Given the description of an element on the screen output the (x, y) to click on. 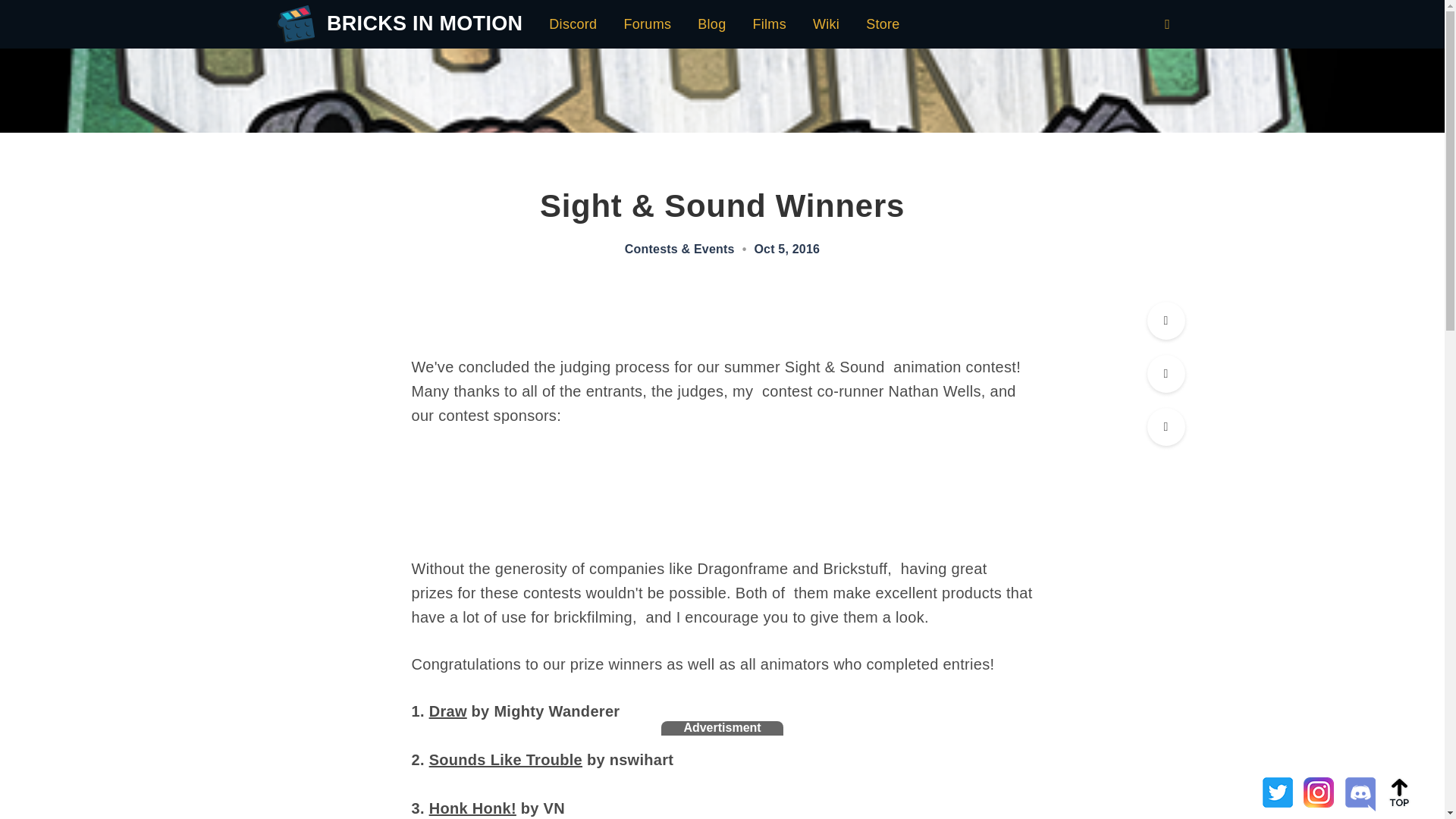
Advertisement (721, 769)
Discord (572, 23)
Store (882, 23)
Wiki (826, 23)
BRICKS IN MOTION (421, 23)
Sounds Like Trouble (505, 759)
Films (769, 23)
Honk Honk! (472, 808)
Draw (448, 710)
Forums (647, 23)
Blog (711, 23)
